Given the description of an element on the screen output the (x, y) to click on. 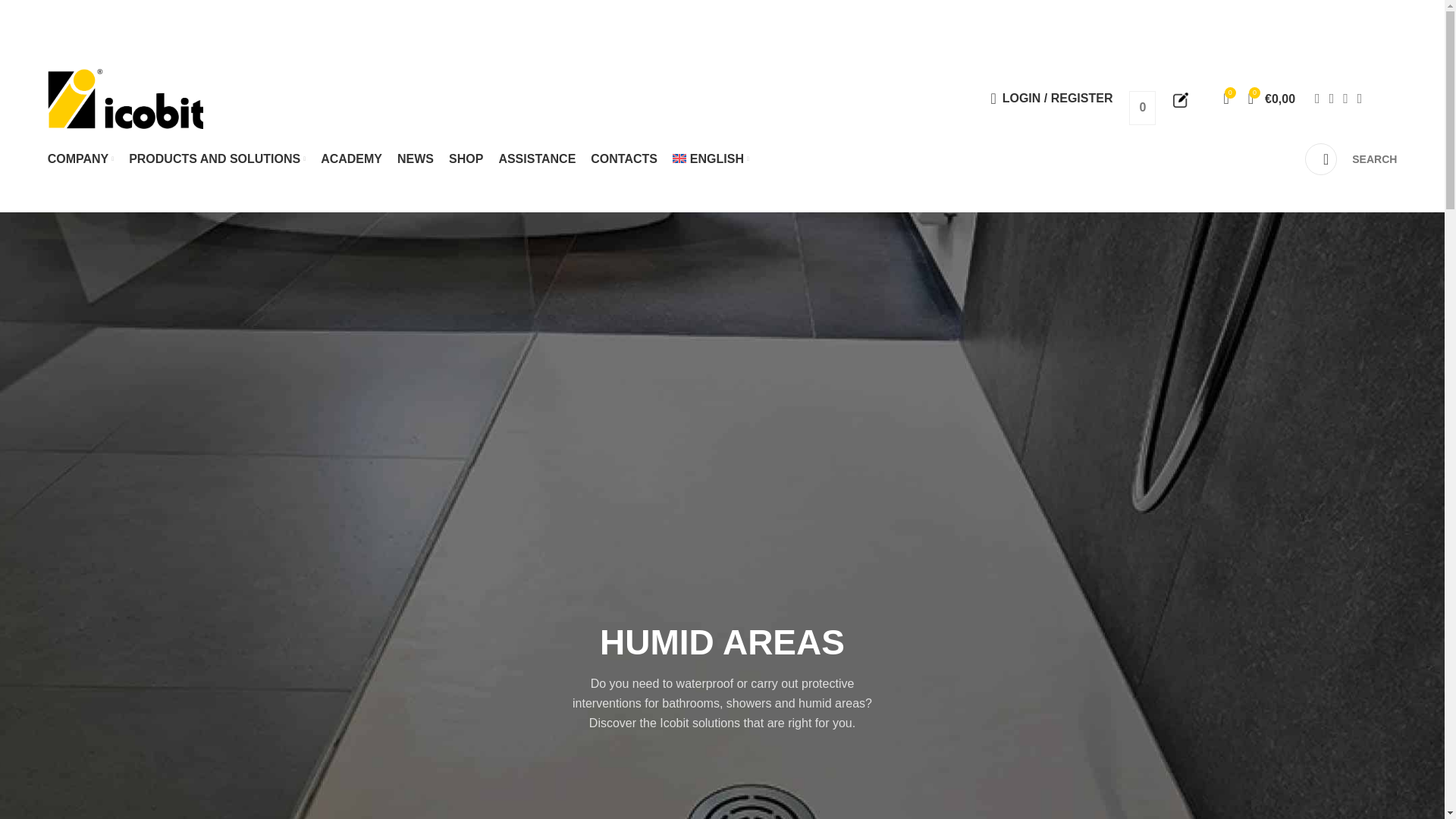
My account (1050, 98)
Shopping cart (1271, 98)
COMPANY (81, 159)
Log in (986, 339)
PRODUCTS AND SOLUTIONS (217, 159)
